Given the description of an element on the screen output the (x, y) to click on. 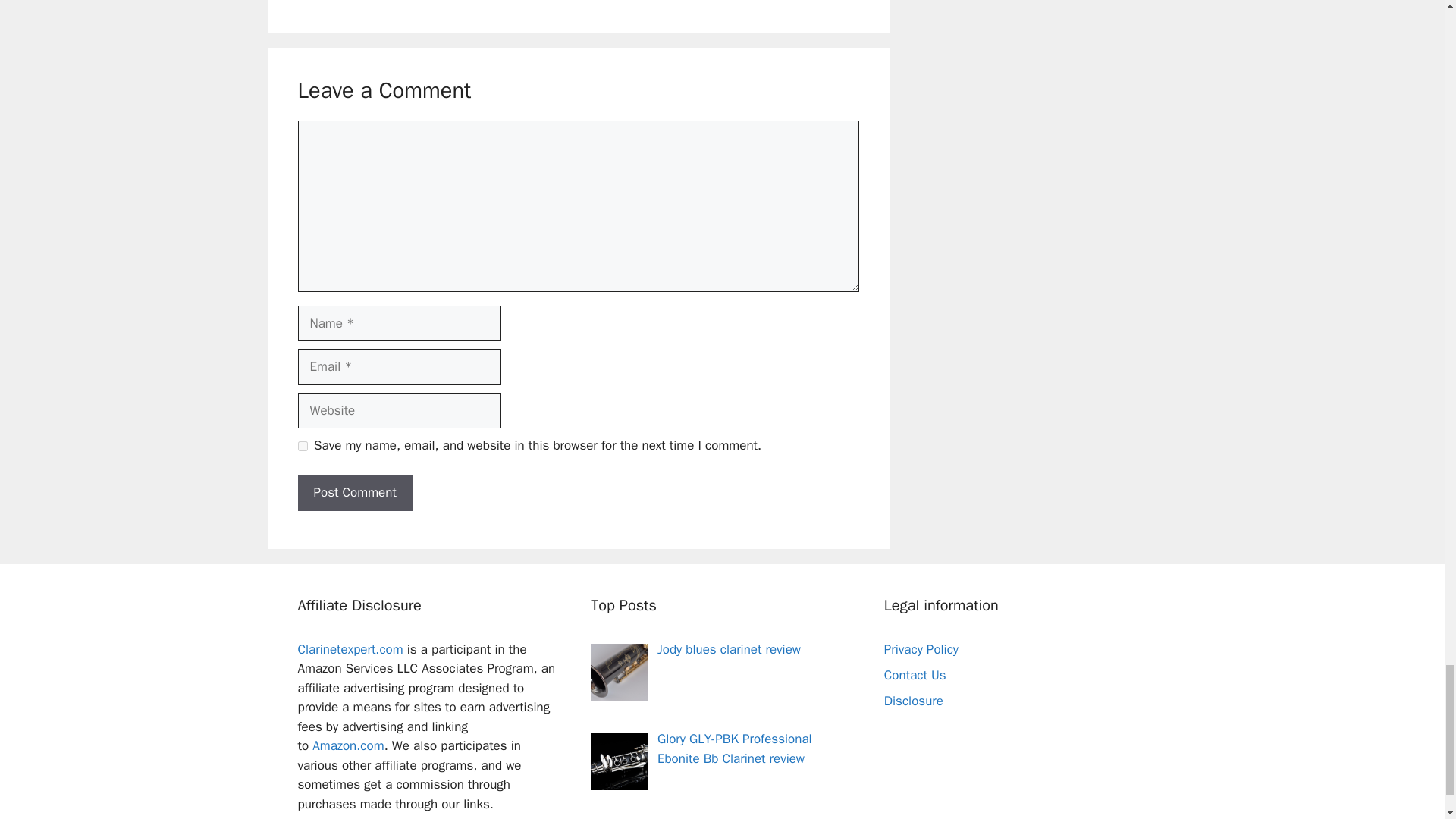
yes (302, 446)
Post Comment (354, 493)
Post Comment (354, 493)
